Given the description of an element on the screen output the (x, y) to click on. 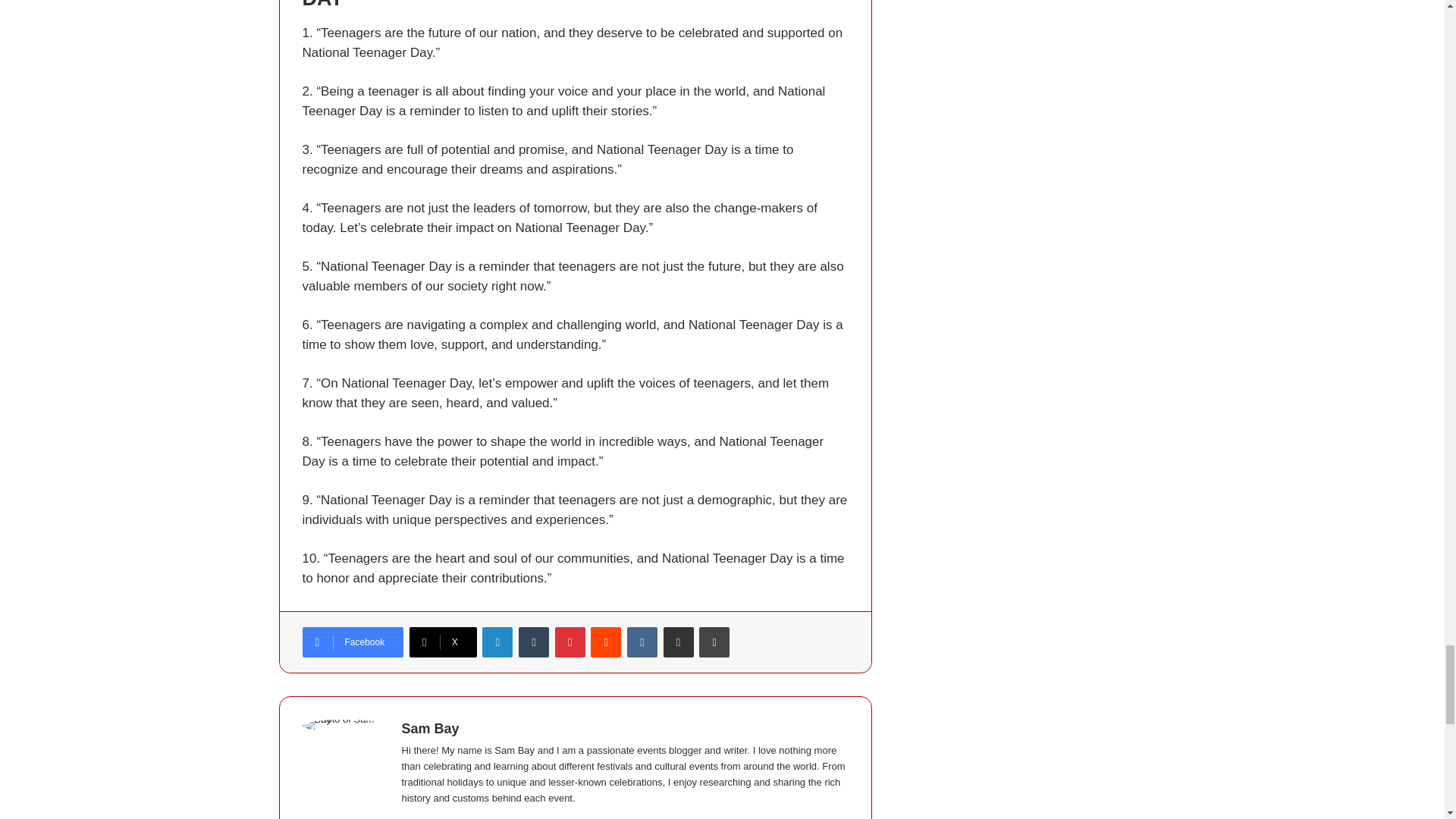
Tumblr (533, 642)
VKontakte (642, 642)
Share via Email (678, 642)
X (443, 642)
Pinterest (569, 642)
Reddit (606, 642)
Facebook (352, 642)
LinkedIn (496, 642)
